Given the description of an element on the screen output the (x, y) to click on. 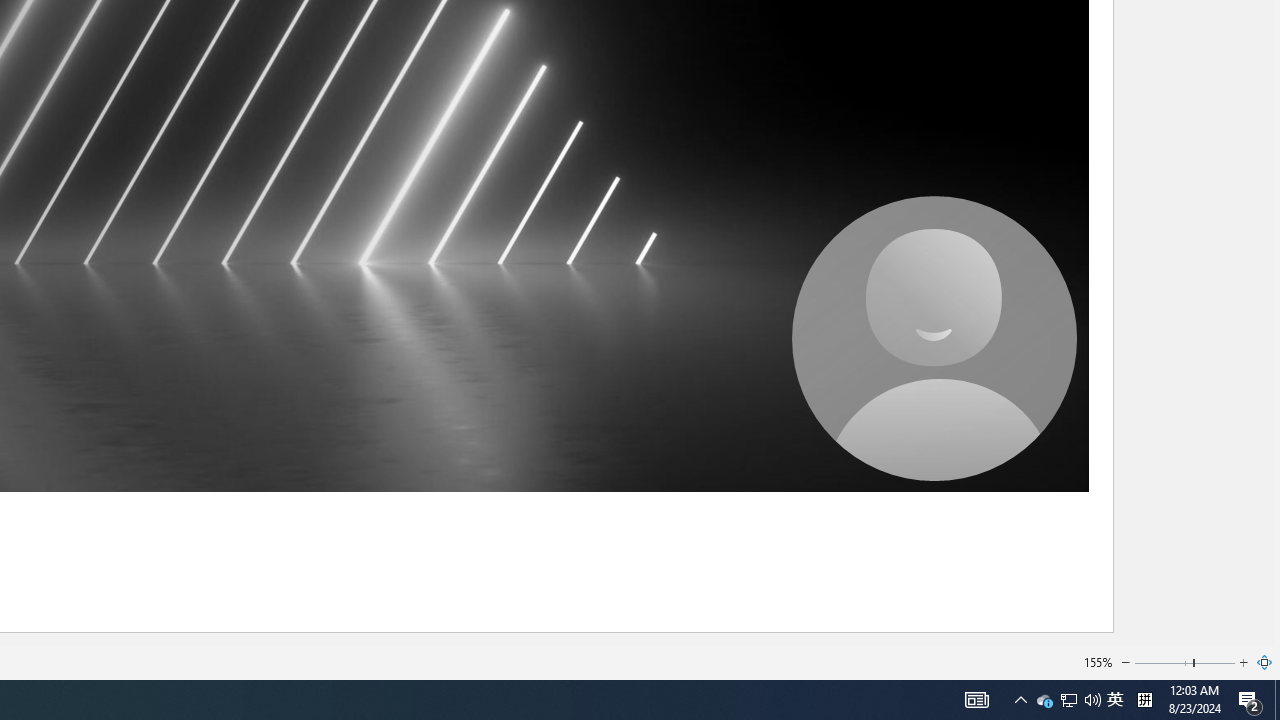
155% (1098, 662)
Zoom to Page (1265, 662)
Zoom (1185, 662)
Zoom Out (1126, 662)
Page left (1163, 662)
Zoom In (1244, 662)
Page right (1215, 662)
